Given the description of an element on the screen output the (x, y) to click on. 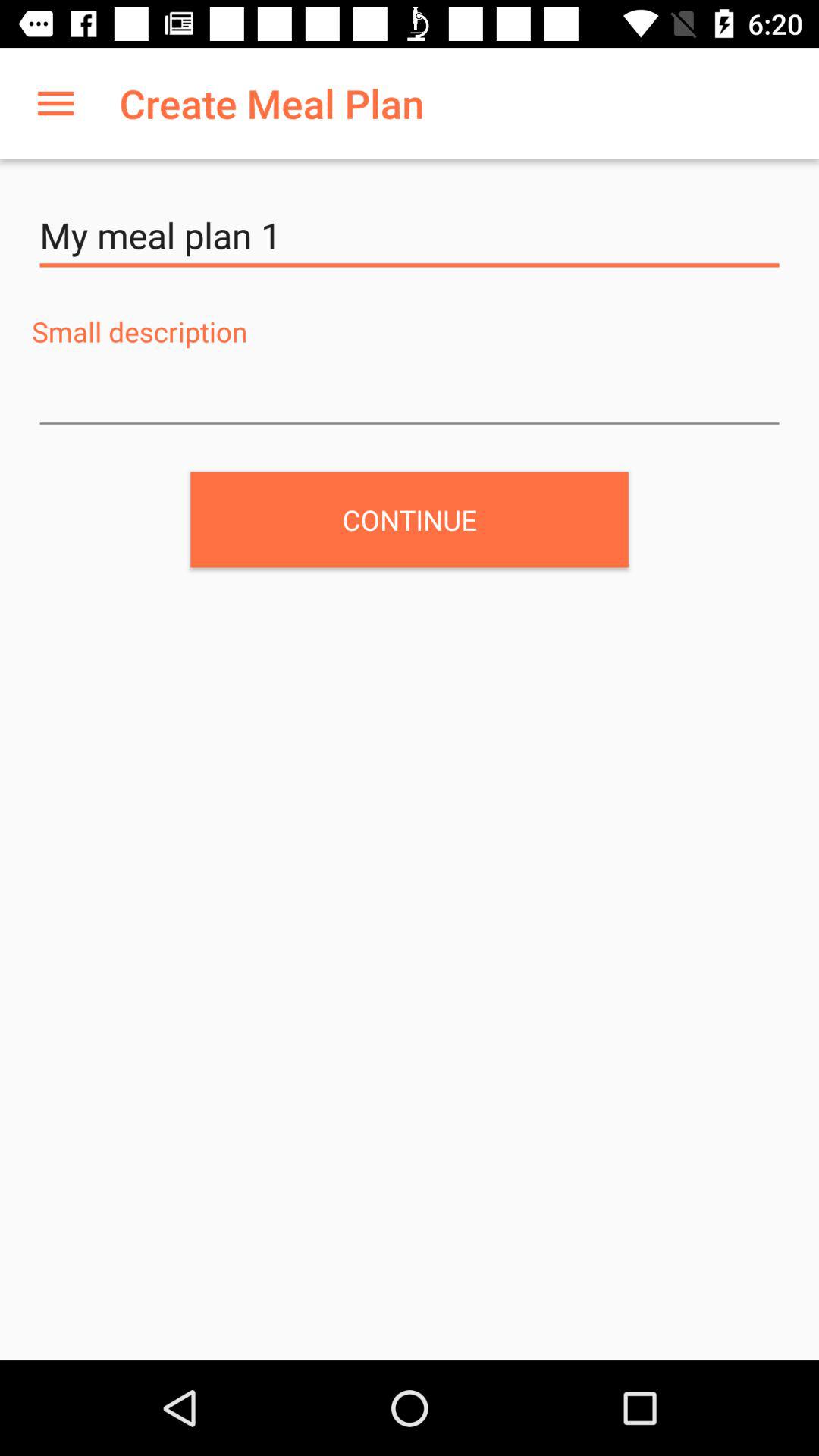
turn on icon to the left of the create meal plan app (55, 103)
